Given the description of an element on the screen output the (x, y) to click on. 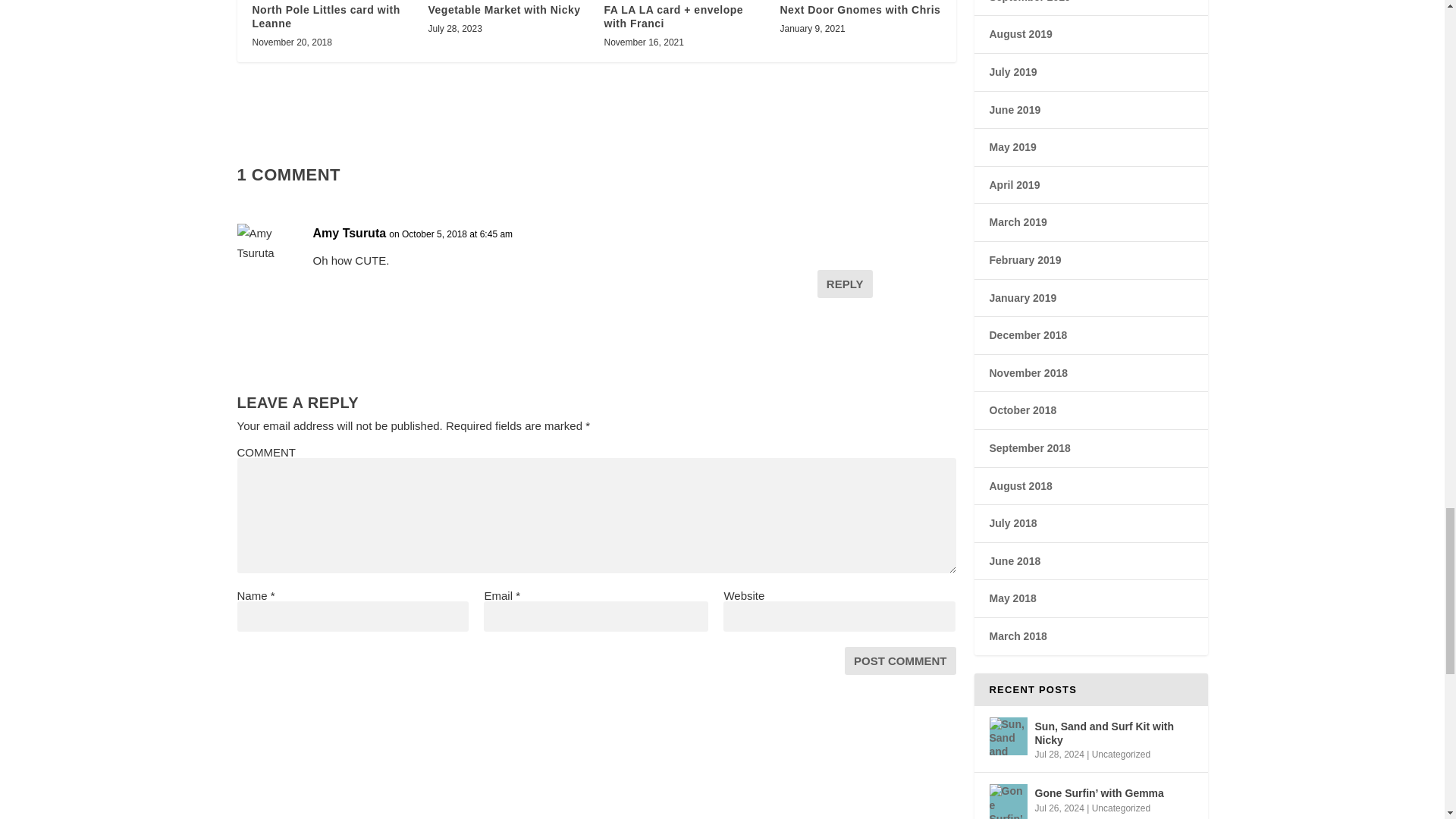
Vegetable Market with Nicky (503, 9)
Post Comment (900, 660)
North Pole Littles card with Leanne (324, 16)
